Given the description of an element on the screen output the (x, y) to click on. 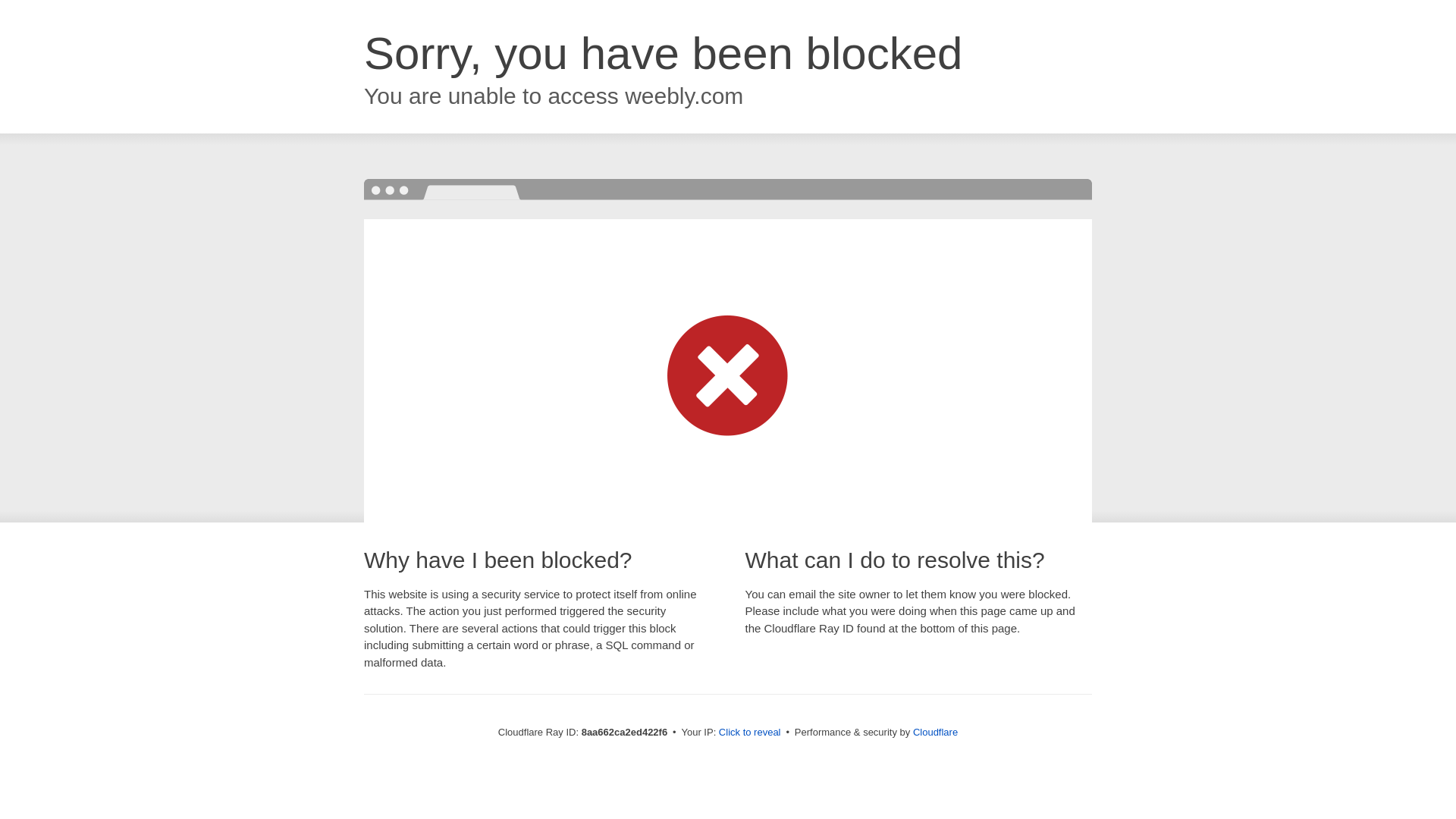
Click to reveal (749, 732)
Cloudflare (935, 731)
